Given the description of an element on the screen output the (x, y) to click on. 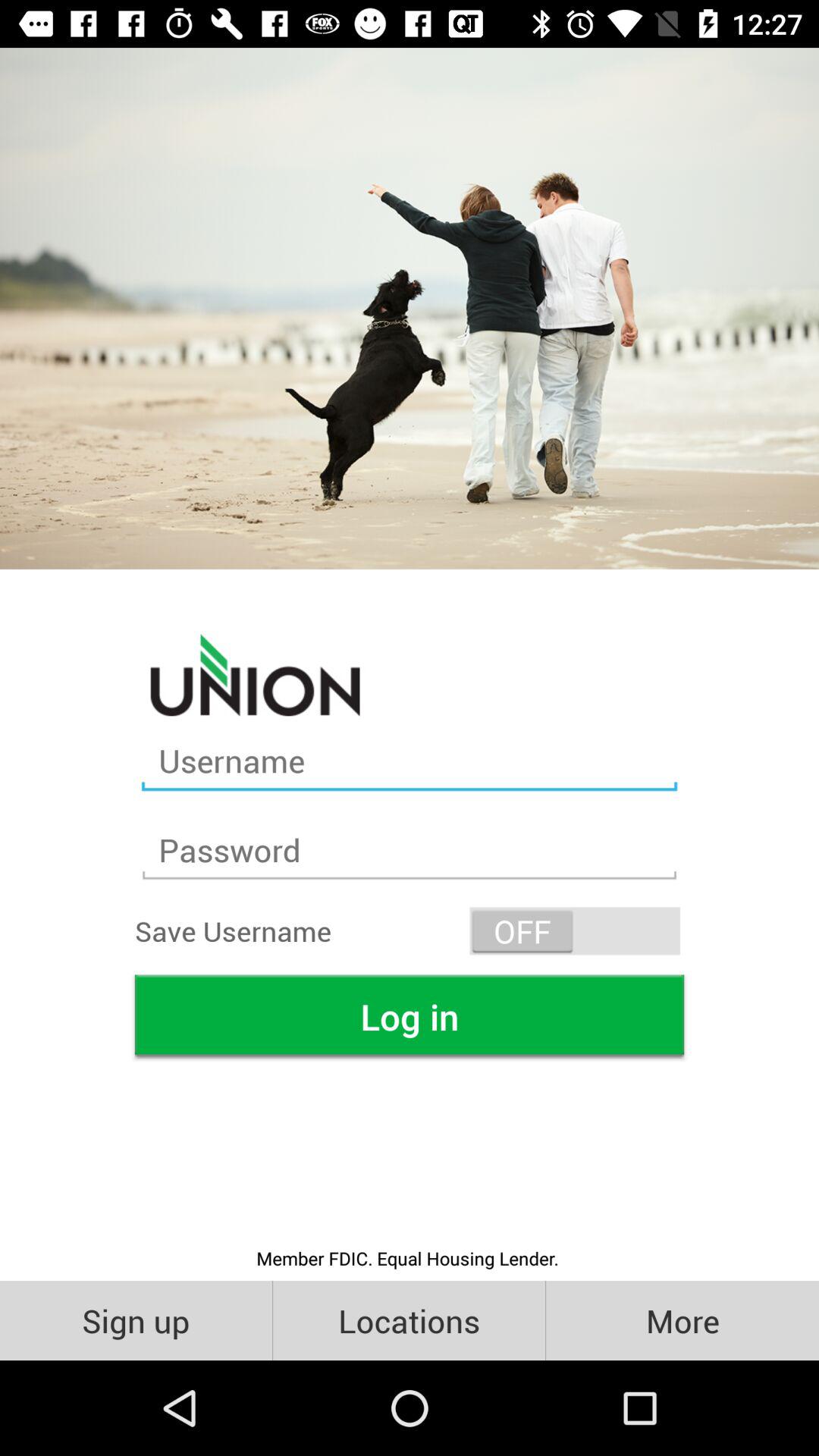
turn off the locations (409, 1320)
